Given the description of an element on the screen output the (x, y) to click on. 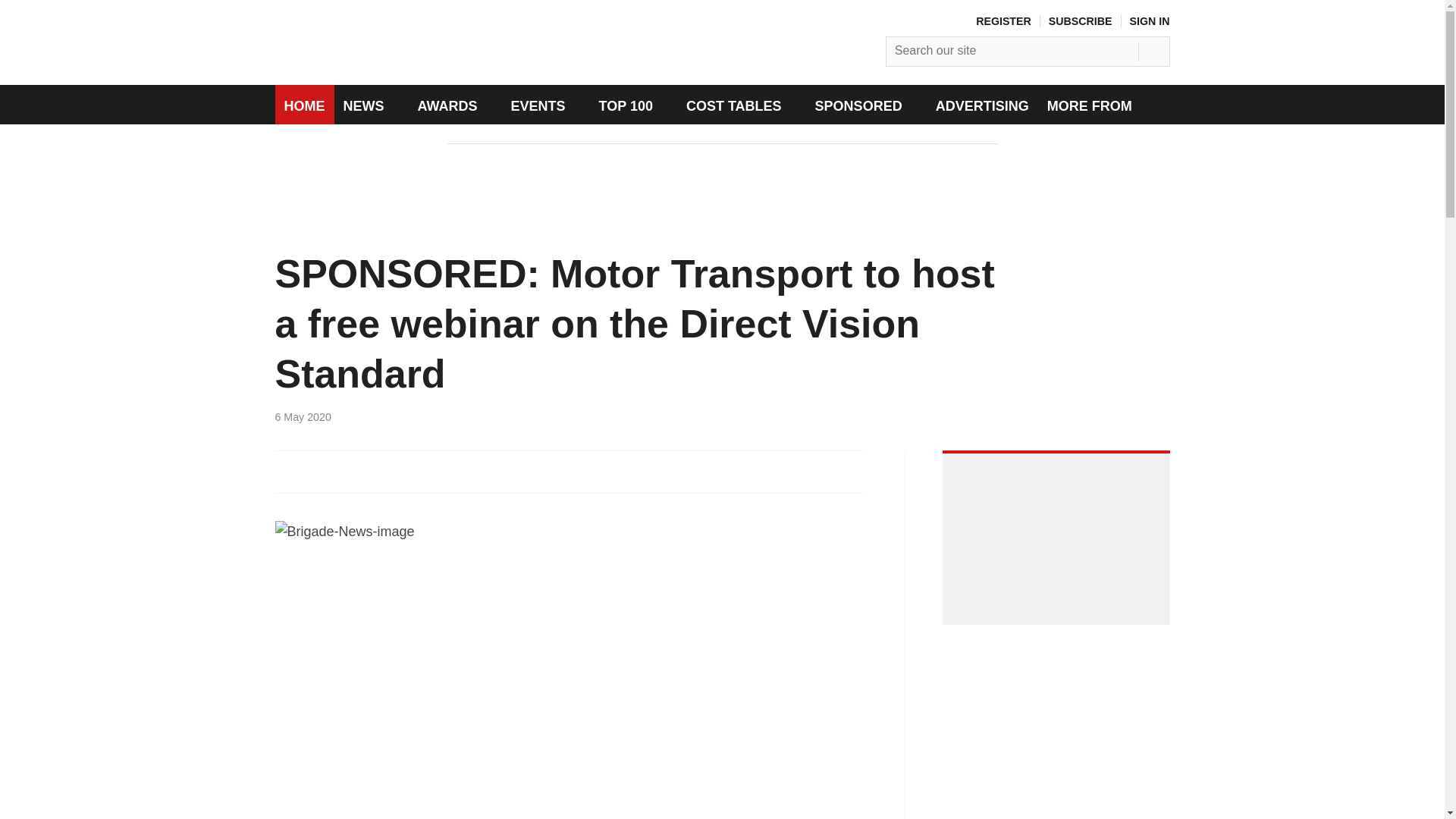
Share this on Facebook (286, 470)
SUBSCRIBE (1080, 21)
SEARCH (1156, 48)
Share this on Twitter (316, 470)
REGISTER (1002, 21)
Email this article (376, 470)
SIGN IN (1149, 21)
Share this on Linked in (345, 470)
Site name (428, 73)
